Given the description of an element on the screen output the (x, y) to click on. 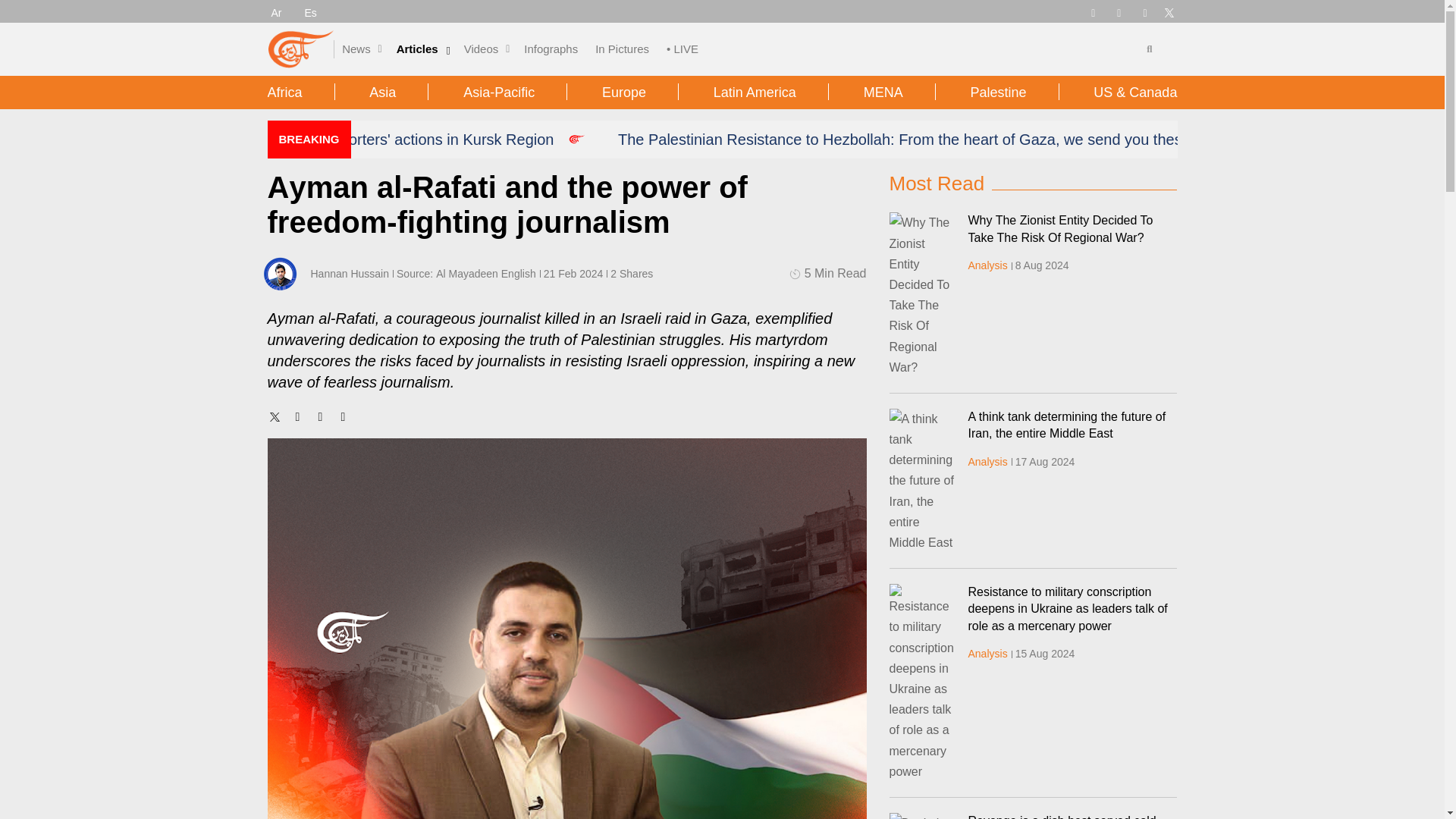
Facebook (1118, 11)
Articles (417, 48)
In Pictures (622, 48)
Analysis (987, 461)
Telegram (1092, 11)
Videos (481, 48)
News (356, 48)
Analysis (987, 265)
Infographs (551, 48)
Analysis (987, 653)
